Given the description of an element on the screen output the (x, y) to click on. 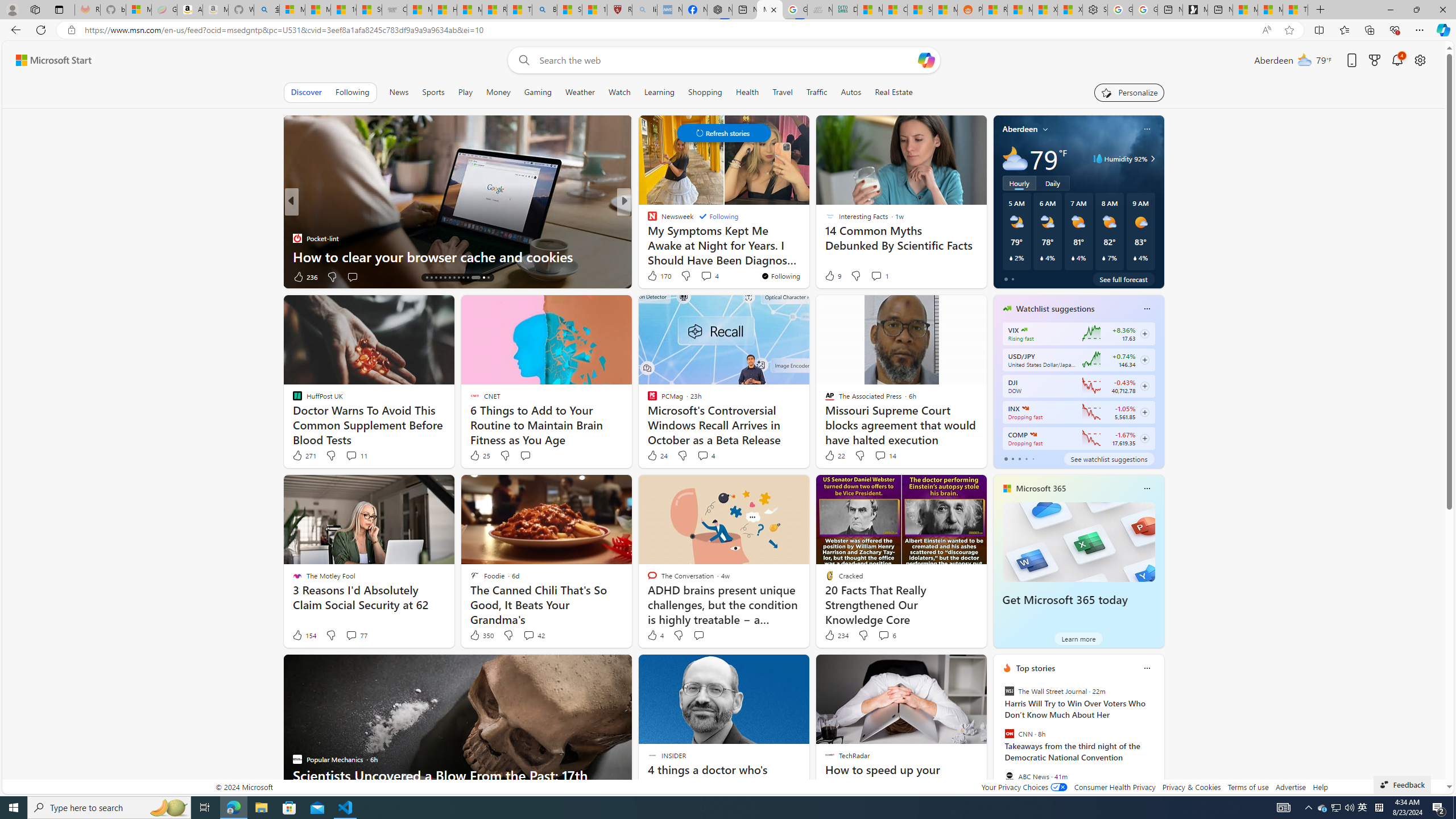
154 Like (303, 634)
AutomationID: tab-21 (458, 277)
Shopping (705, 92)
View comments 42 Comment (528, 635)
tab-3 (1025, 458)
Enter your search term (726, 59)
View comments 4 Comment (703, 455)
Get Microsoft 365 today (1064, 600)
Microsoft Start Gaming (1194, 9)
Mostly cloudy (1014, 158)
Class: icon-img (1146, 668)
